Given the description of an element on the screen output the (x, y) to click on. 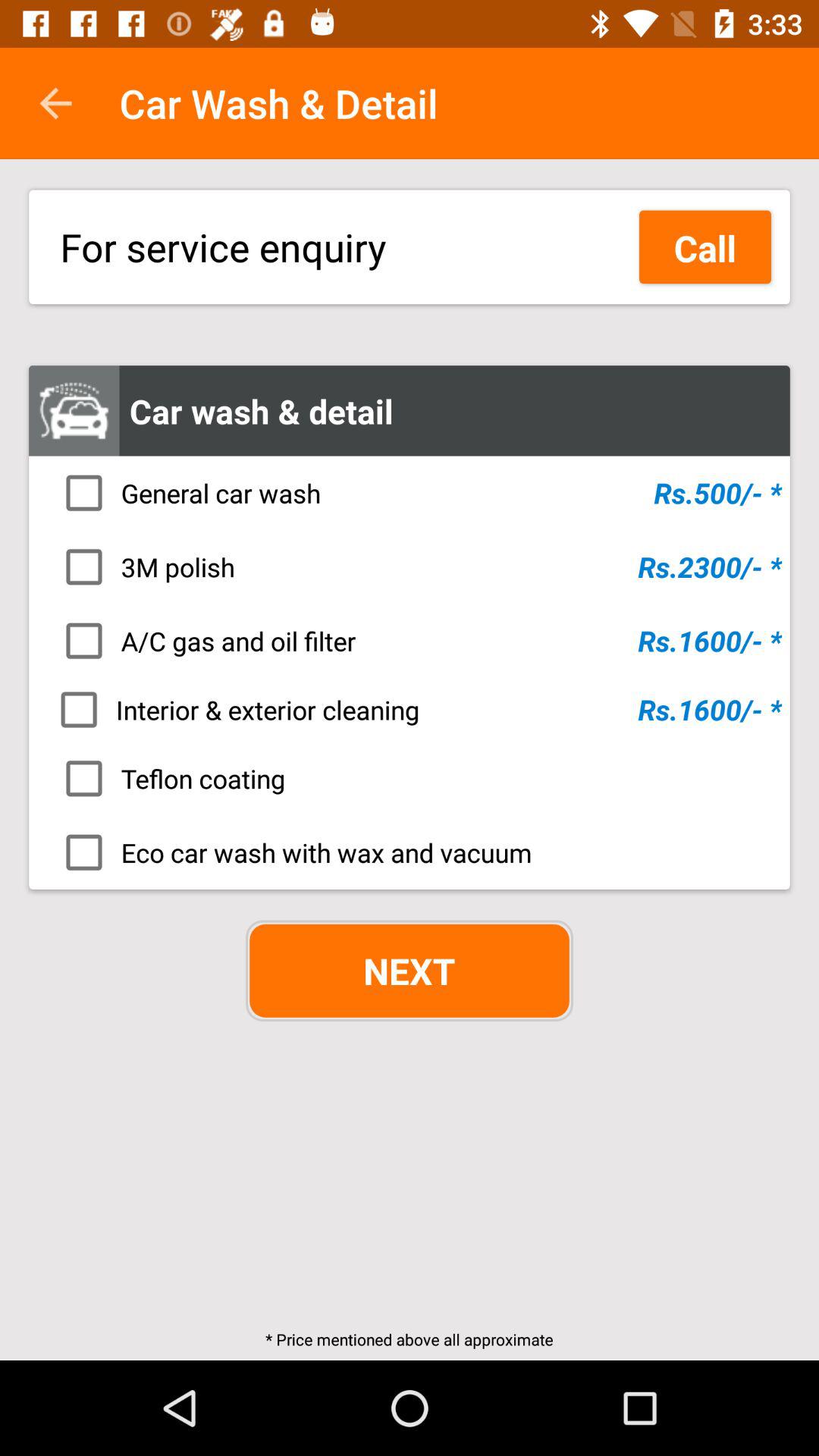
press the 3m polish icon (414, 566)
